Given the description of an element on the screen output the (x, y) to click on. 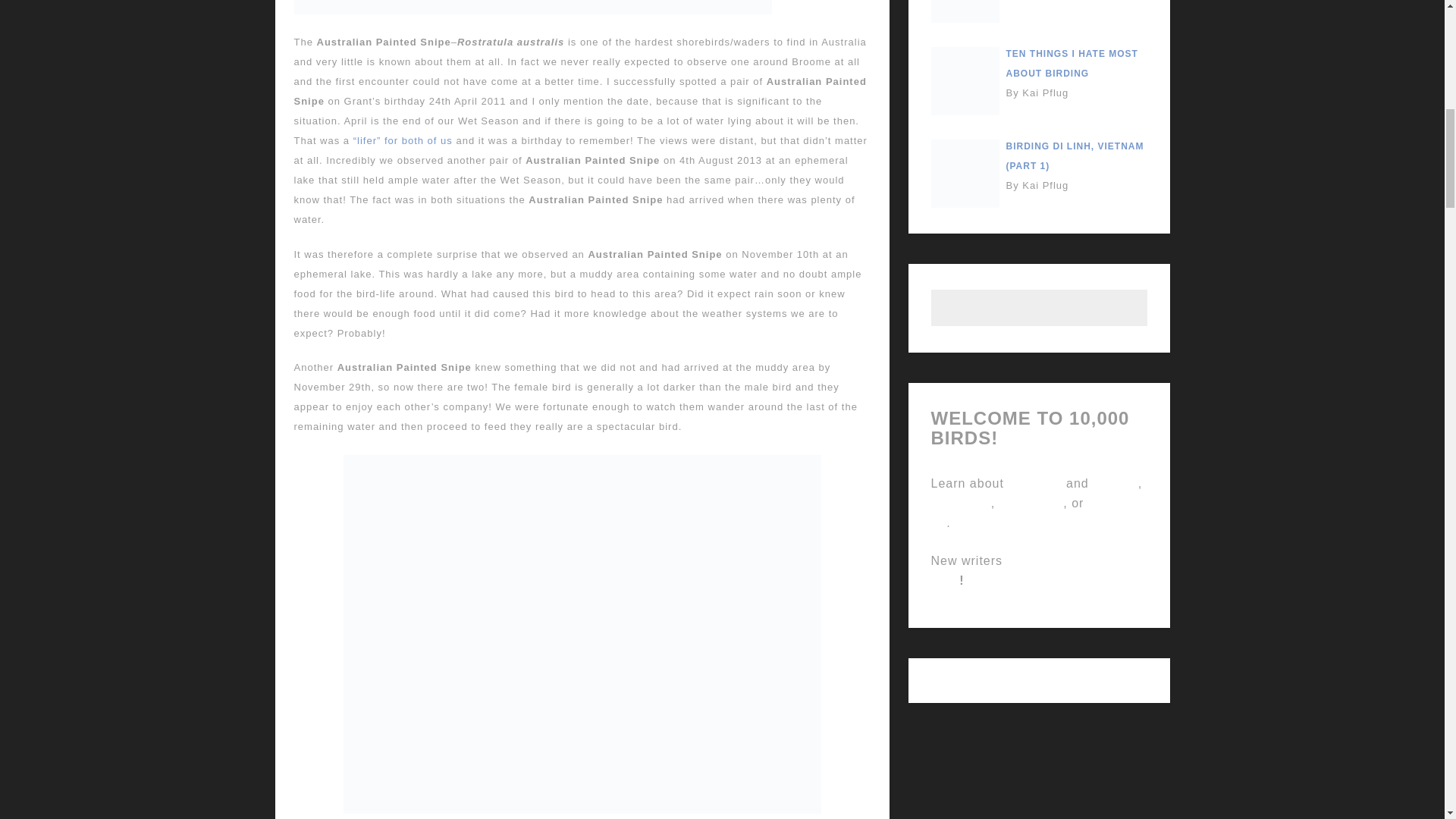
About the 10,000 Birds Beat Writers (1115, 482)
Contact (1034, 512)
About 10,000 Birds (1032, 482)
